Given the description of an element on the screen output the (x, y) to click on. 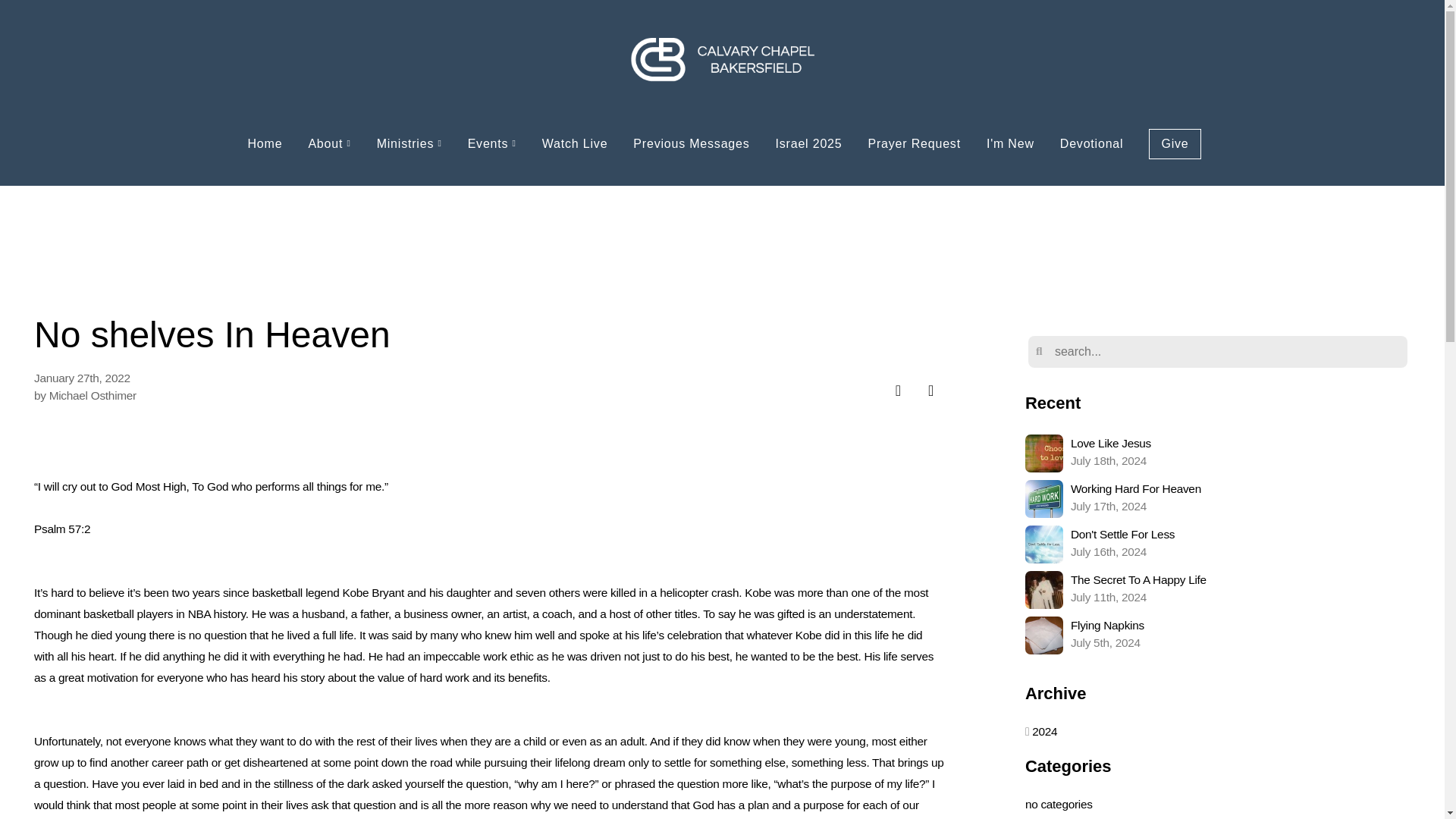
Previous Messages (690, 143)
Devotional (1091, 143)
About  (329, 143)
Copy to Clipboard (930, 389)
Israel 2025 (1217, 589)
Give (1217, 544)
Ministries  (808, 143)
Watch Live (1173, 143)
Home (408, 143)
I'm New (575, 143)
Events  (1217, 635)
